Given the description of an element on the screen output the (x, y) to click on. 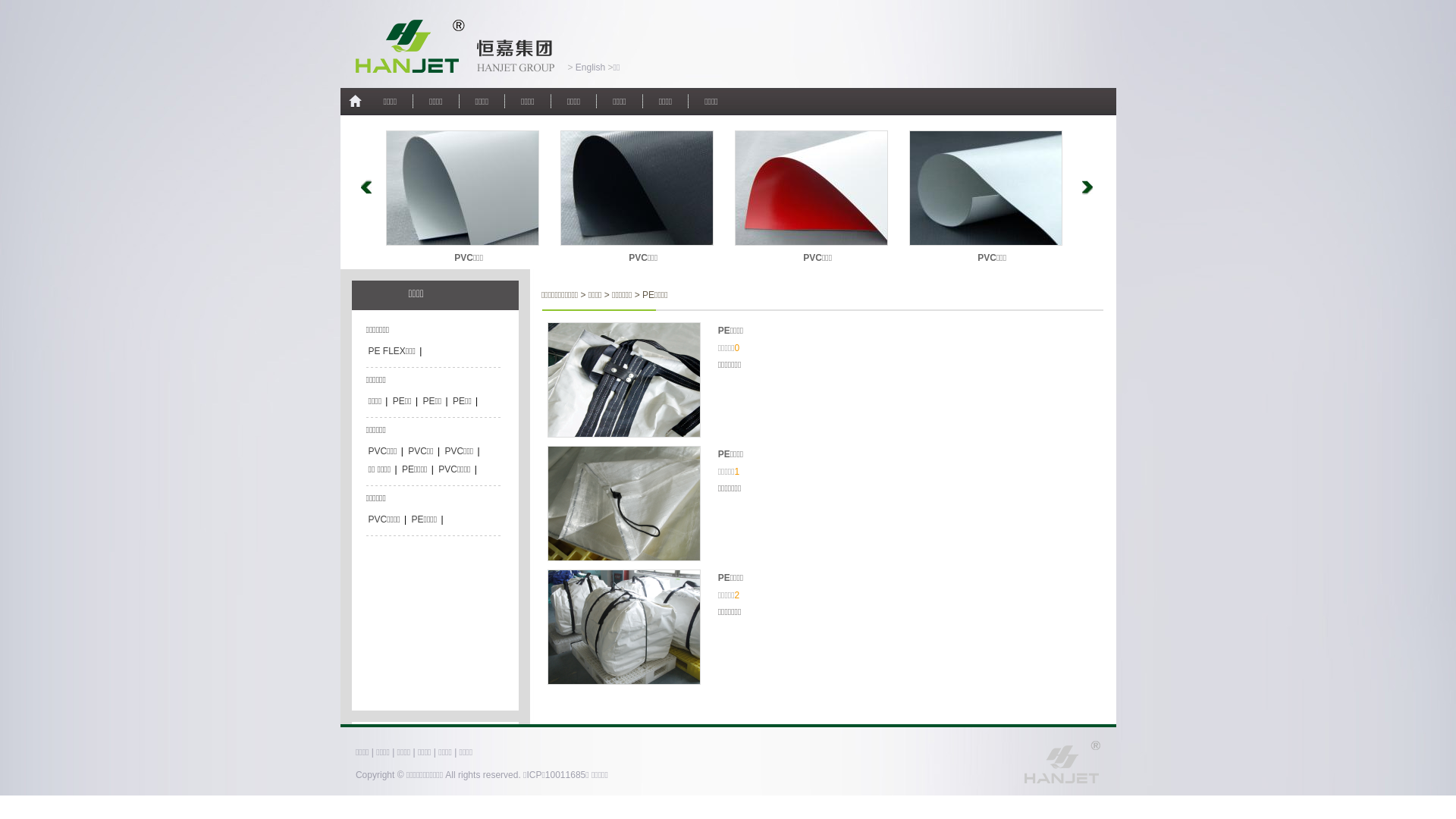
English Element type: text (589, 67)
